Given the description of an element on the screen output the (x, y) to click on. 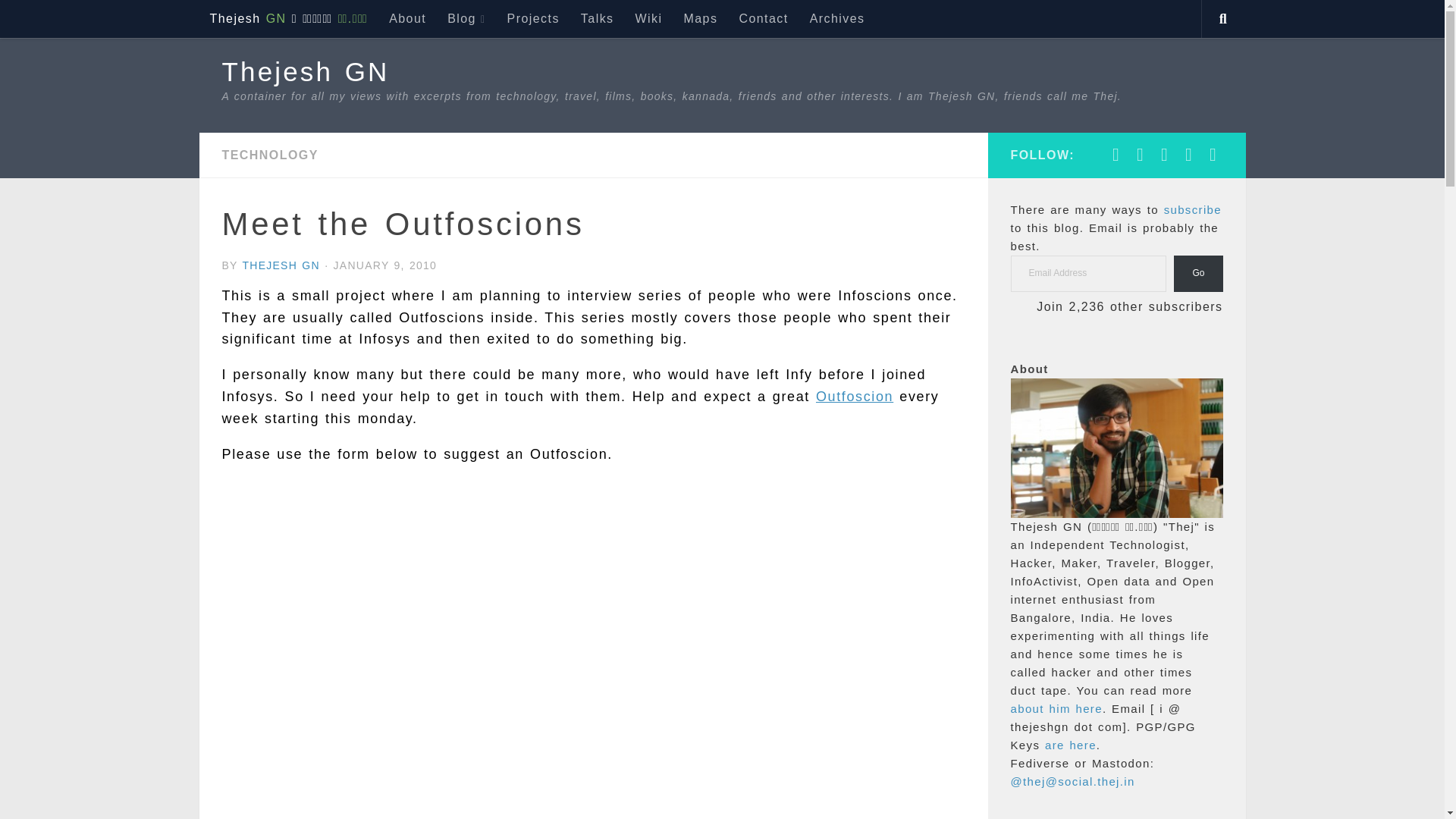
Outfoscion (854, 396)
Follow us on Github (1140, 154)
Blog (466, 18)
Wiki (648, 18)
About (407, 18)
Contact (762, 18)
Skip to content (73, 20)
THEJESH GN (279, 265)
Projects (533, 18)
